Given the description of an element on the screen output the (x, y) to click on. 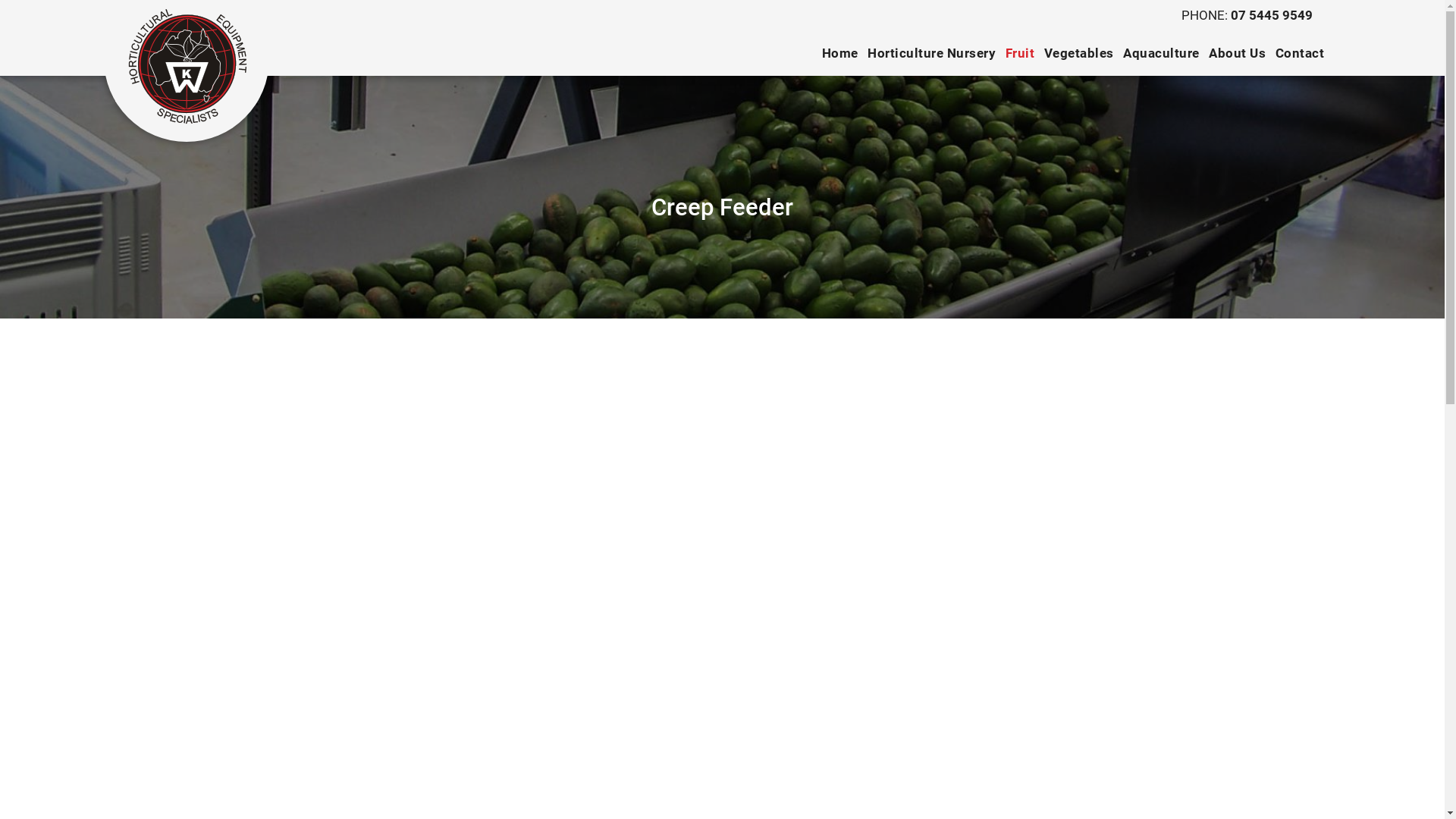
Aquaculture Element type: text (1161, 53)
07 5445 9549 Element type: text (1271, 14)
KW Automation Element type: hover (186, 66)
Home Element type: text (840, 53)
Horticulture Nursery Element type: text (931, 53)
Vegetables Element type: text (1078, 53)
Fruit Element type: text (1020, 53)
Contact Element type: text (1299, 53)
About Us Element type: text (1236, 53)
